Given the description of an element on the screen output the (x, y) to click on. 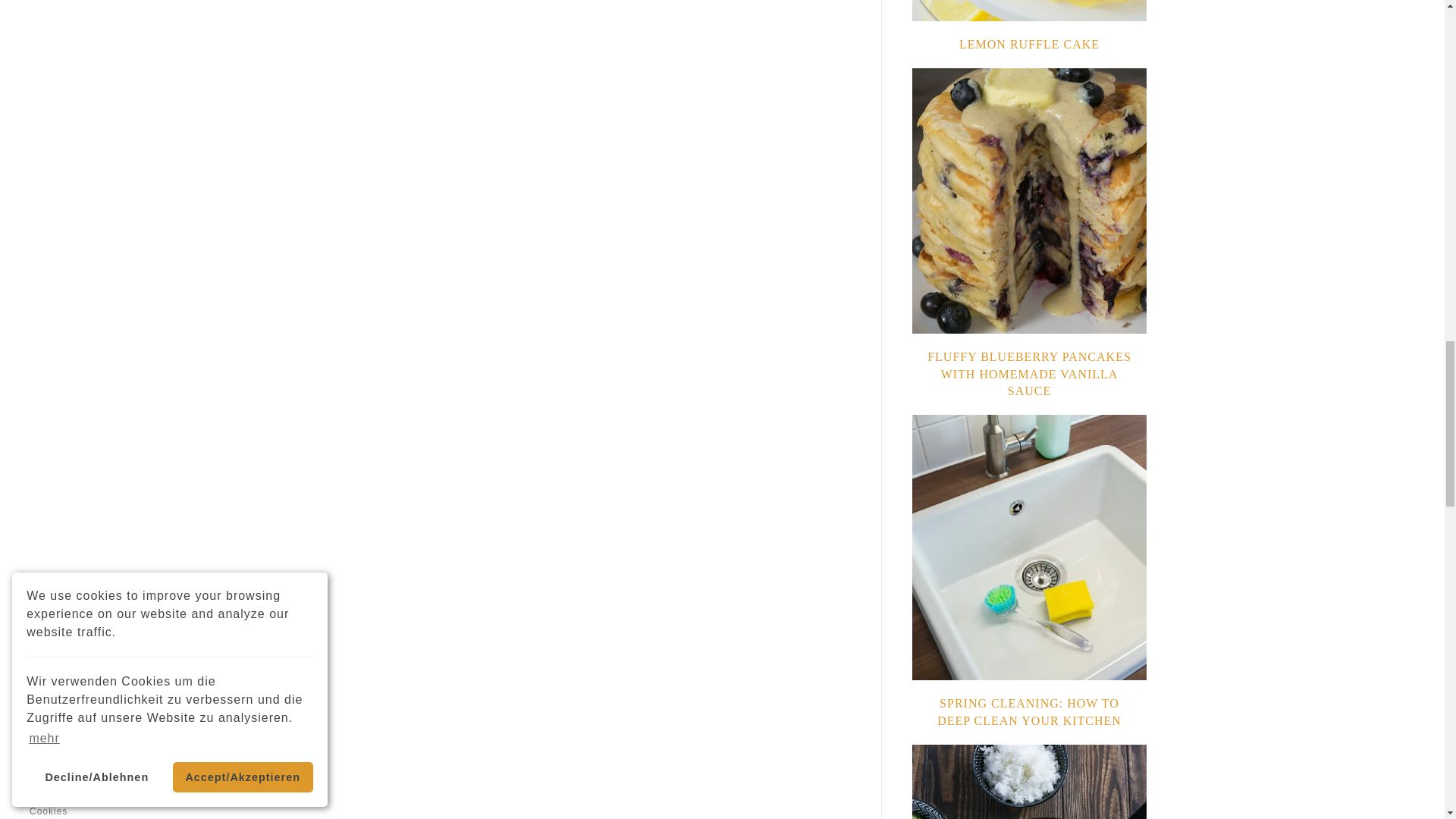
Spring Cleaning: How to deep clean your kitchen (1029, 711)
Lemon Ruffle Cake (1029, 43)
Fluffy Blueberry Pancakes with Homemade Vanilla Sauce (1029, 373)
